Given the description of an element on the screen output the (x, y) to click on. 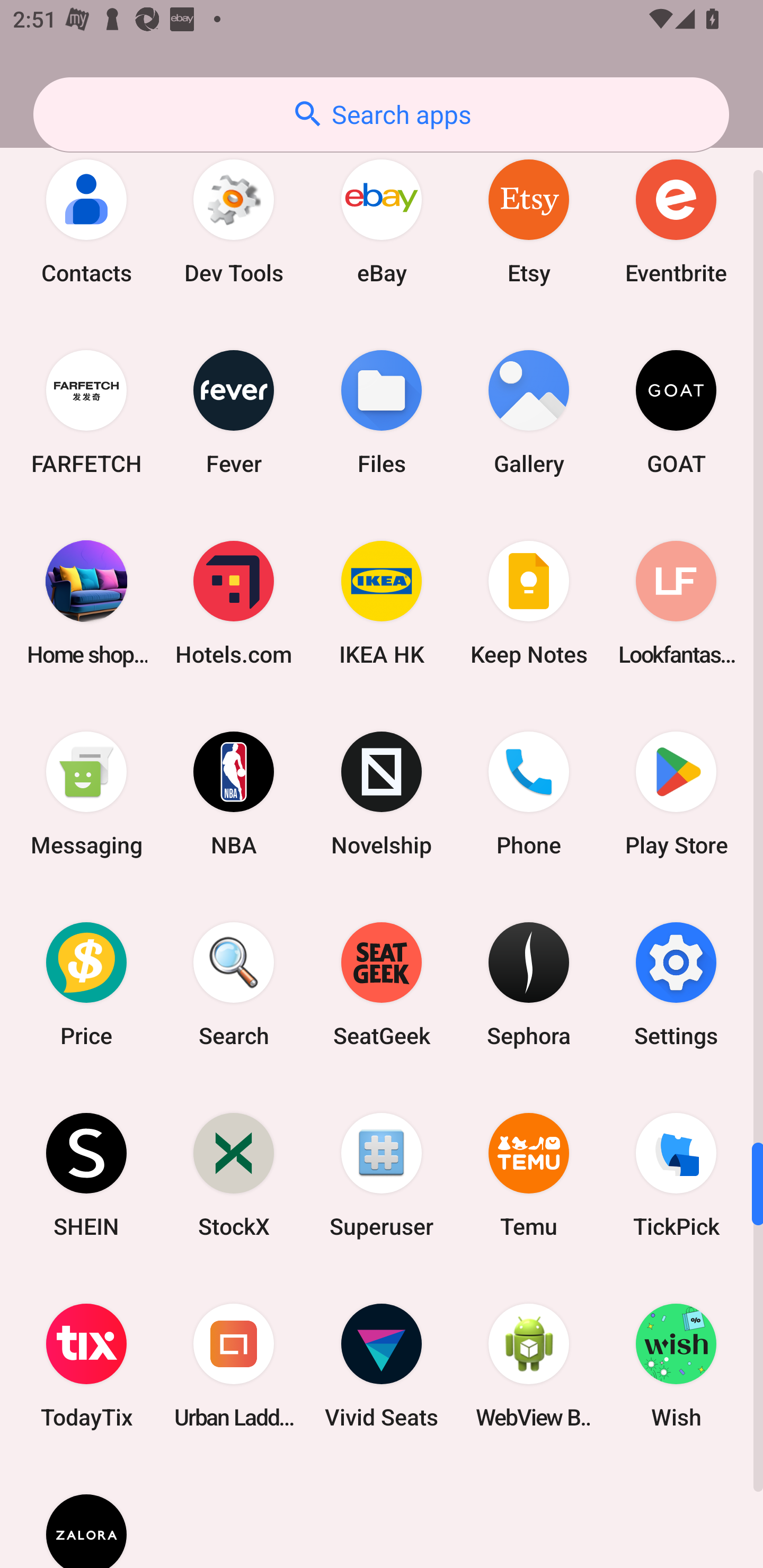
  Search apps (381, 114)
Contacts (86, 220)
Dev Tools (233, 220)
eBay (381, 220)
Etsy (528, 220)
Eventbrite (676, 220)
FARFETCH (86, 412)
Fever (233, 412)
Files (381, 412)
Gallery (528, 412)
GOAT (676, 412)
Home shopping (86, 602)
Hotels.com (233, 602)
IKEA HK (381, 602)
Keep Notes (528, 602)
Lookfantastic (676, 602)
Messaging (86, 793)
NBA (233, 793)
Novelship (381, 793)
Phone (528, 793)
Play Store (676, 793)
Price (86, 984)
Search (233, 984)
SeatGeek (381, 984)
Sephora (528, 984)
Settings (676, 984)
SHEIN (86, 1175)
StockX (233, 1175)
Superuser (381, 1175)
Temu (528, 1175)
TickPick (676, 1175)
TodayTix (86, 1365)
Urban Ladder (233, 1365)
Vivid Seats (381, 1365)
WebView Browser Tester (528, 1365)
Wish (676, 1365)
